Given the description of an element on the screen output the (x, y) to click on. 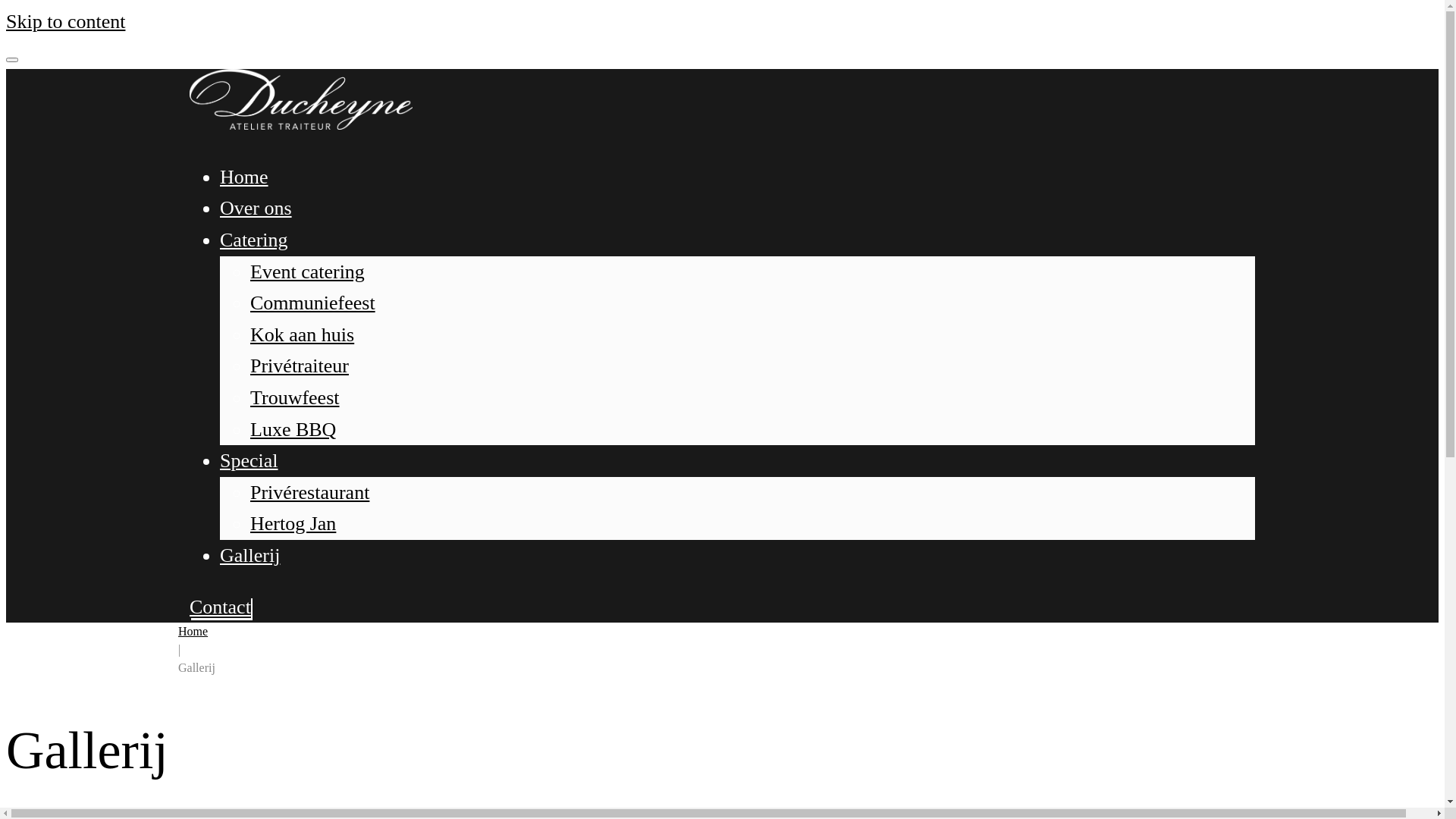
Luxe BBQ Element type: text (292, 429)
Kok aan huis Element type: text (302, 334)
Trouwfeest Element type: text (294, 397)
Special Element type: text (248, 460)
Contact Element type: text (220, 607)
Skip to content Element type: text (65, 21)
Over ons Element type: text (255, 208)
Gallerij Element type: text (249, 555)
Home Element type: text (192, 630)
Hertog Jan Element type: text (292, 523)
Home Element type: text (243, 177)
Communiefeest Element type: text (312, 302)
Event catering Element type: text (307, 271)
Catering Element type: text (253, 240)
